Given the description of an element on the screen output the (x, y) to click on. 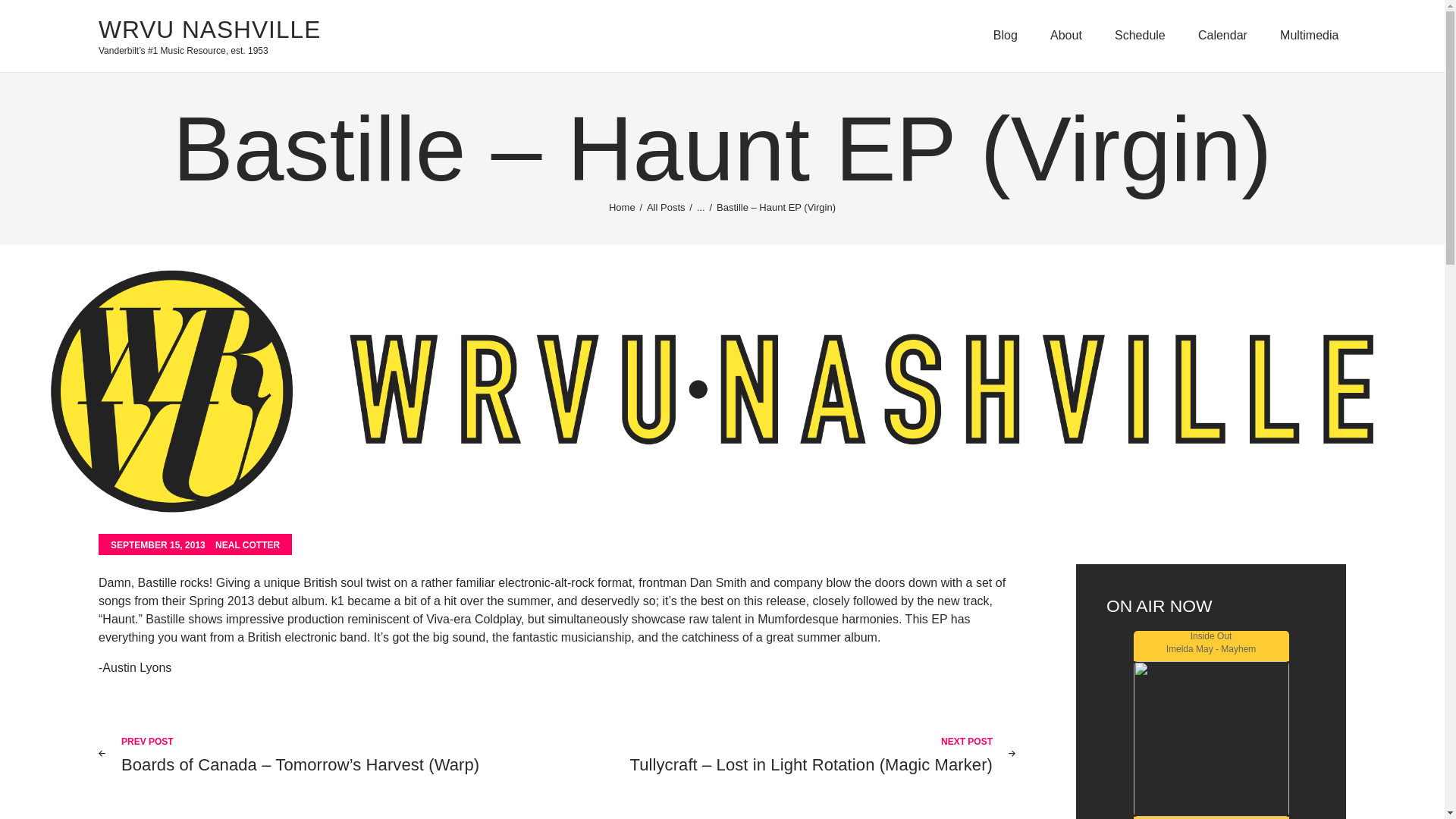
Home (621, 206)
Multimedia (1308, 35)
All Posts (665, 206)
NEAL COTTER (247, 545)
Calendar (1222, 35)
Schedule (1139, 35)
Blog (1005, 35)
About (1065, 35)
SEPTEMBER 15, 2013 (157, 544)
